Given the description of an element on the screen output the (x, y) to click on. 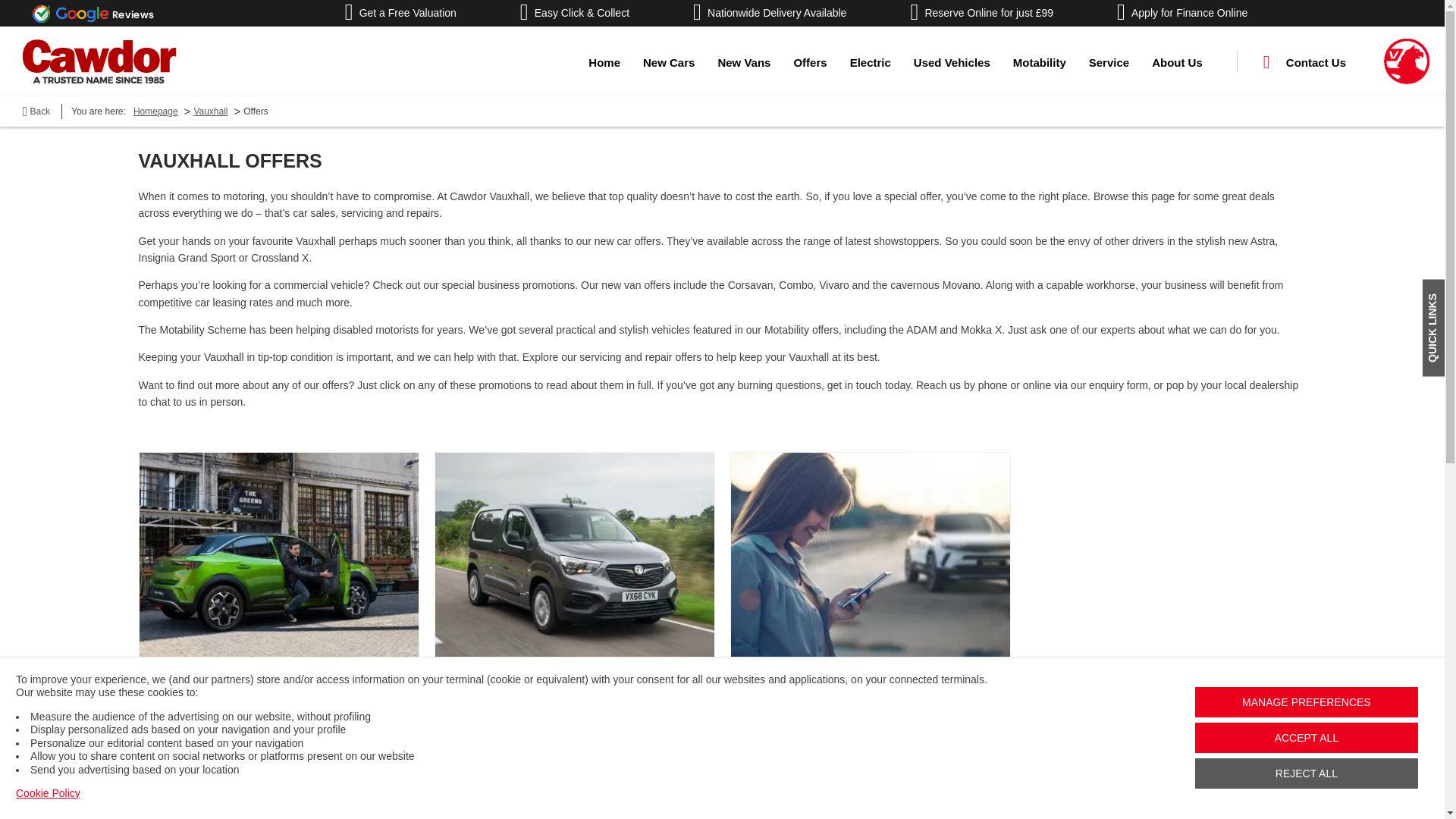
Cookie Policy (48, 793)
Nationwide Delivery Available (769, 13)
Reviews (93, 13)
REJECT ALL (1306, 773)
Get a Free Valuation (401, 13)
MANAGE PREFERENCES (1306, 702)
Apply for Finance Online (1181, 13)
ACCEPT ALL (1306, 737)
Homepage (1406, 60)
Reviews (93, 13)
